Given the description of an element on the screen output the (x, y) to click on. 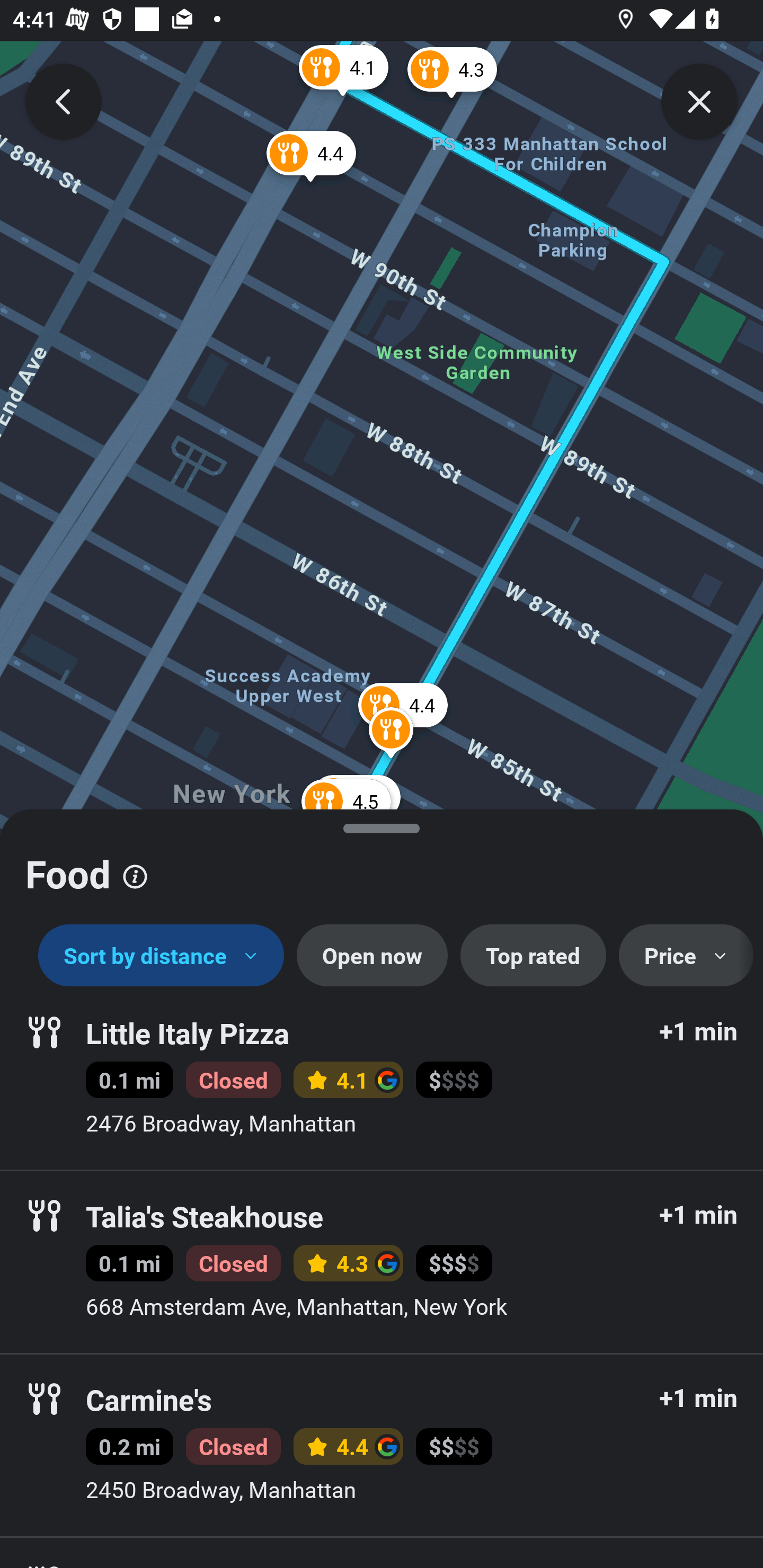
Food (381, 867)
Sort by distance (160, 955)
Open now (371, 955)
Top rated (532, 955)
Price (685, 955)
